Given the description of an element on the screen output the (x, y) to click on. 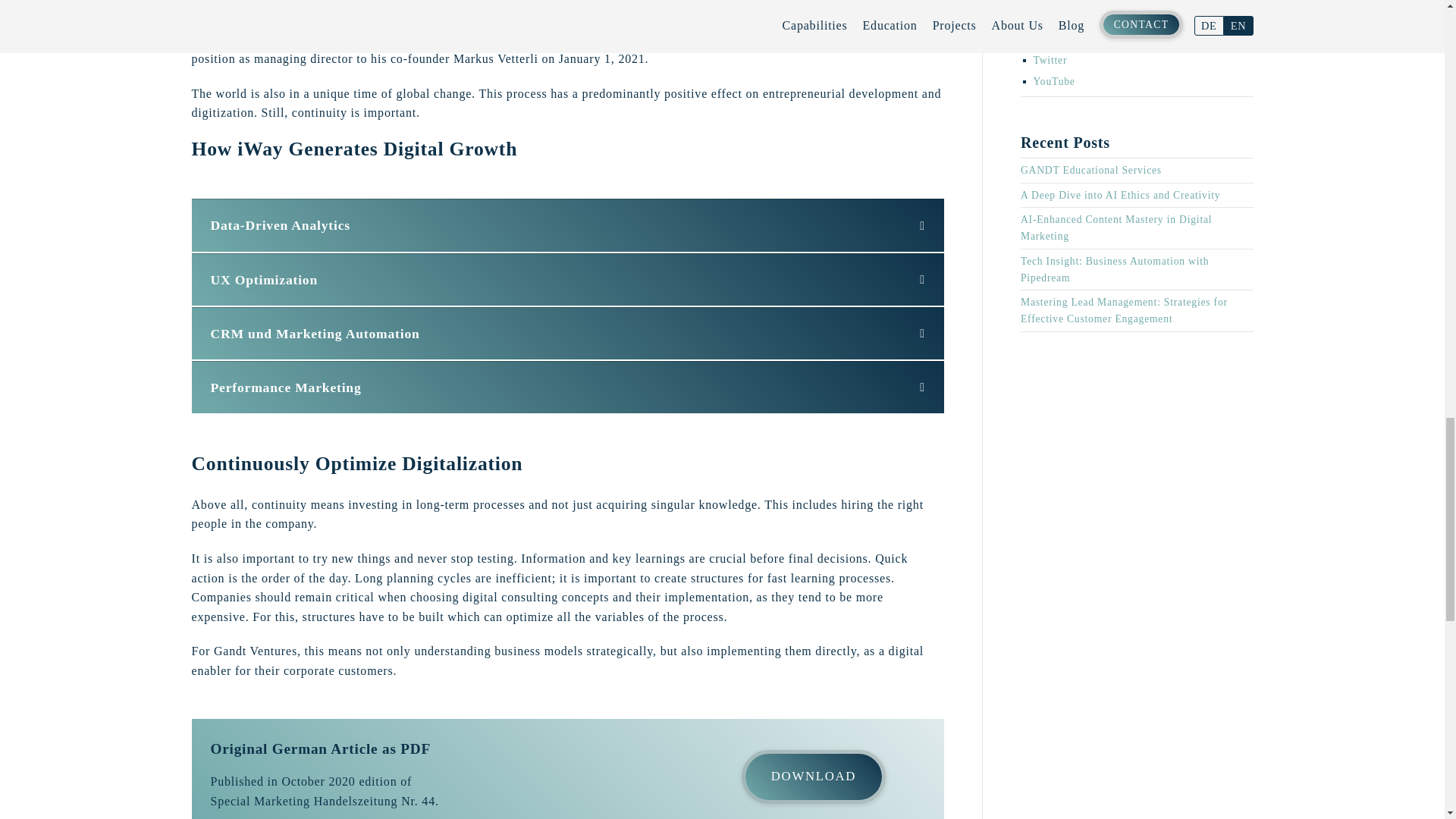
DOWNLOAD (813, 776)
